Given the description of an element on the screen output the (x, y) to click on. 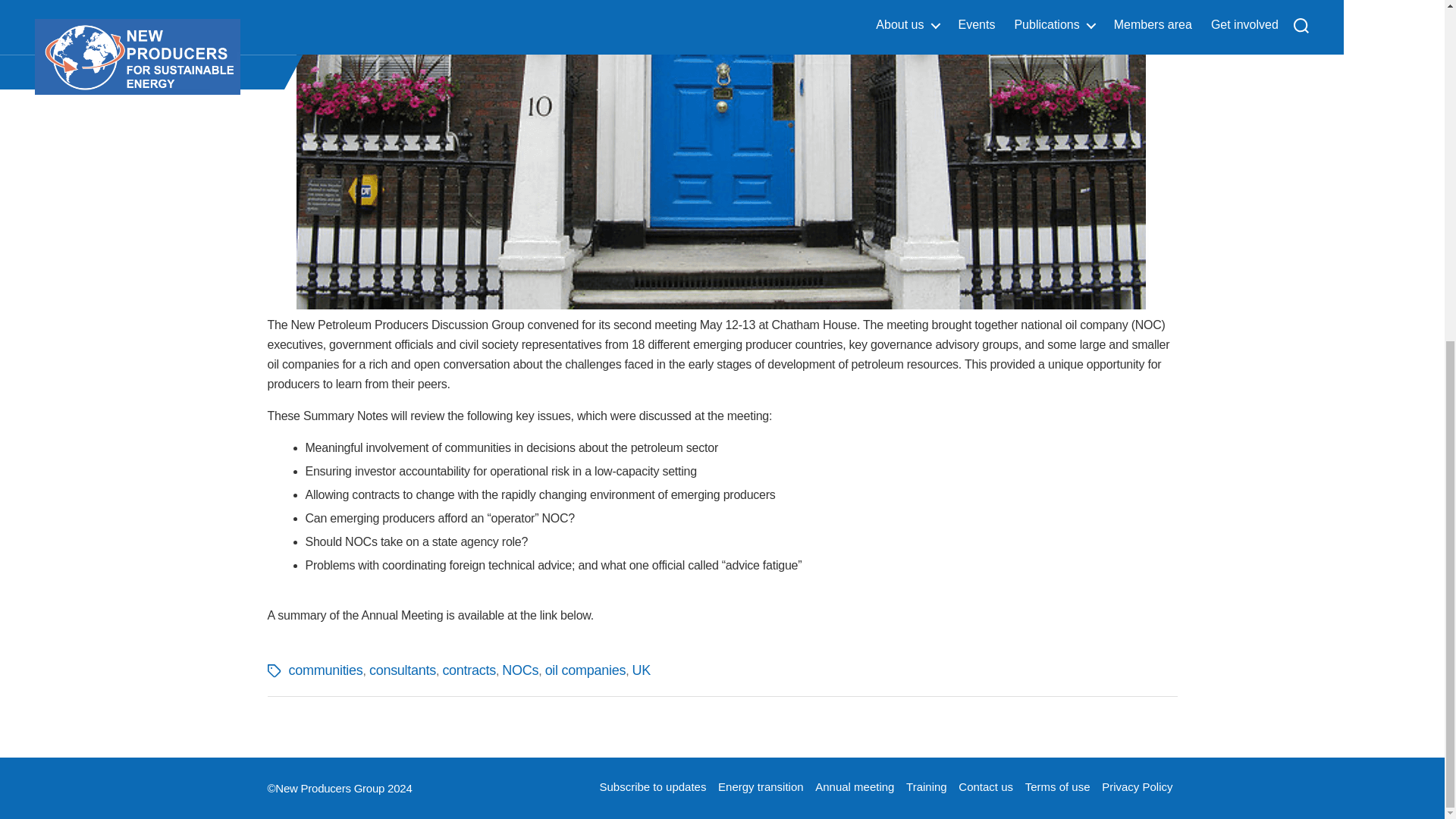
communities (325, 670)
consultants (402, 670)
contracts (469, 670)
